Given the description of an element on the screen output the (x, y) to click on. 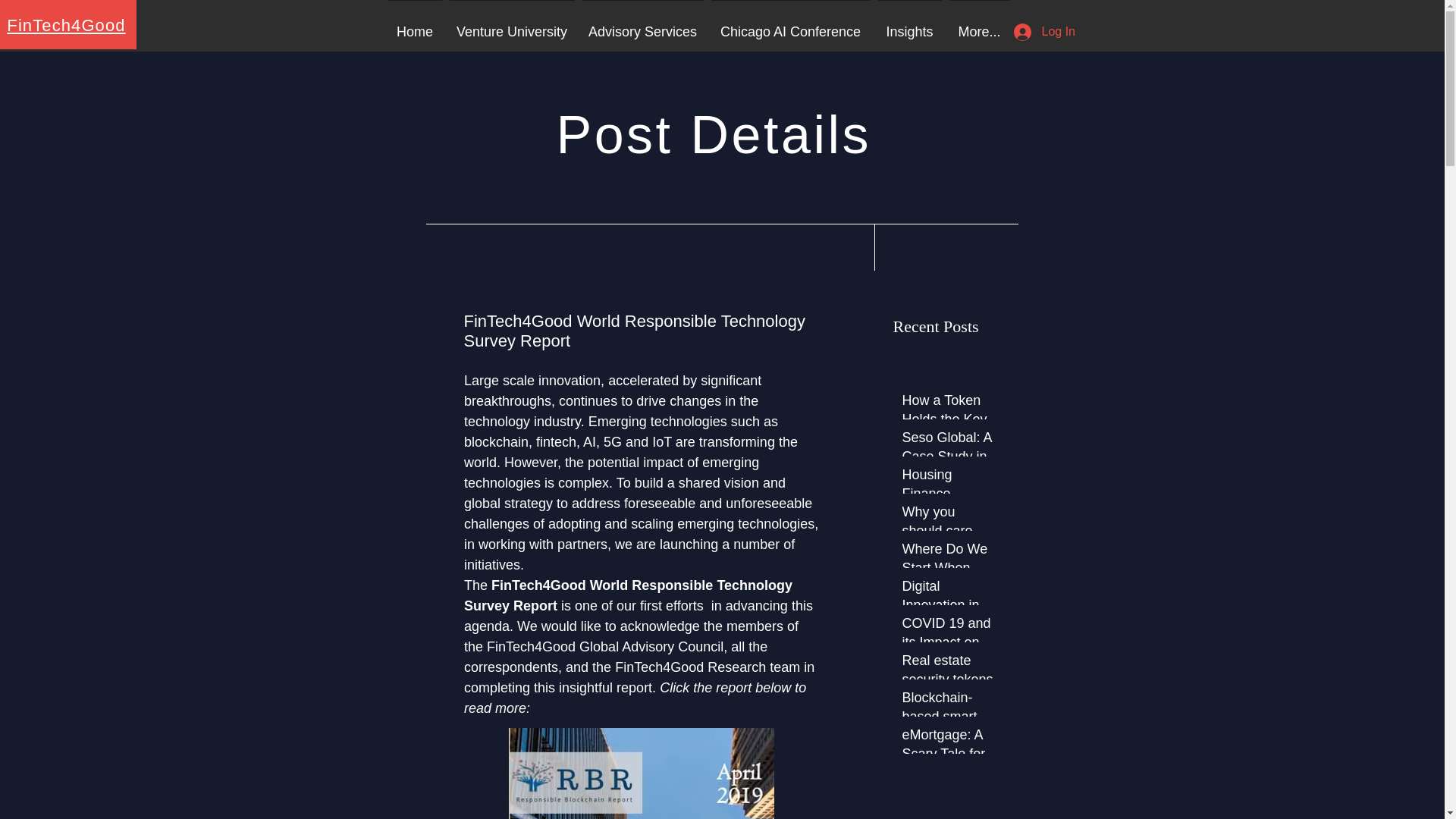
Housing Finance Reimagined (950, 497)
Log In (1043, 31)
Insights (908, 24)
Advisory Services (642, 24)
Home (414, 24)
Chicago AI Conference (789, 24)
FinTech4Good (66, 25)
Venture University (511, 24)
